Given the description of an element on the screen output the (x, y) to click on. 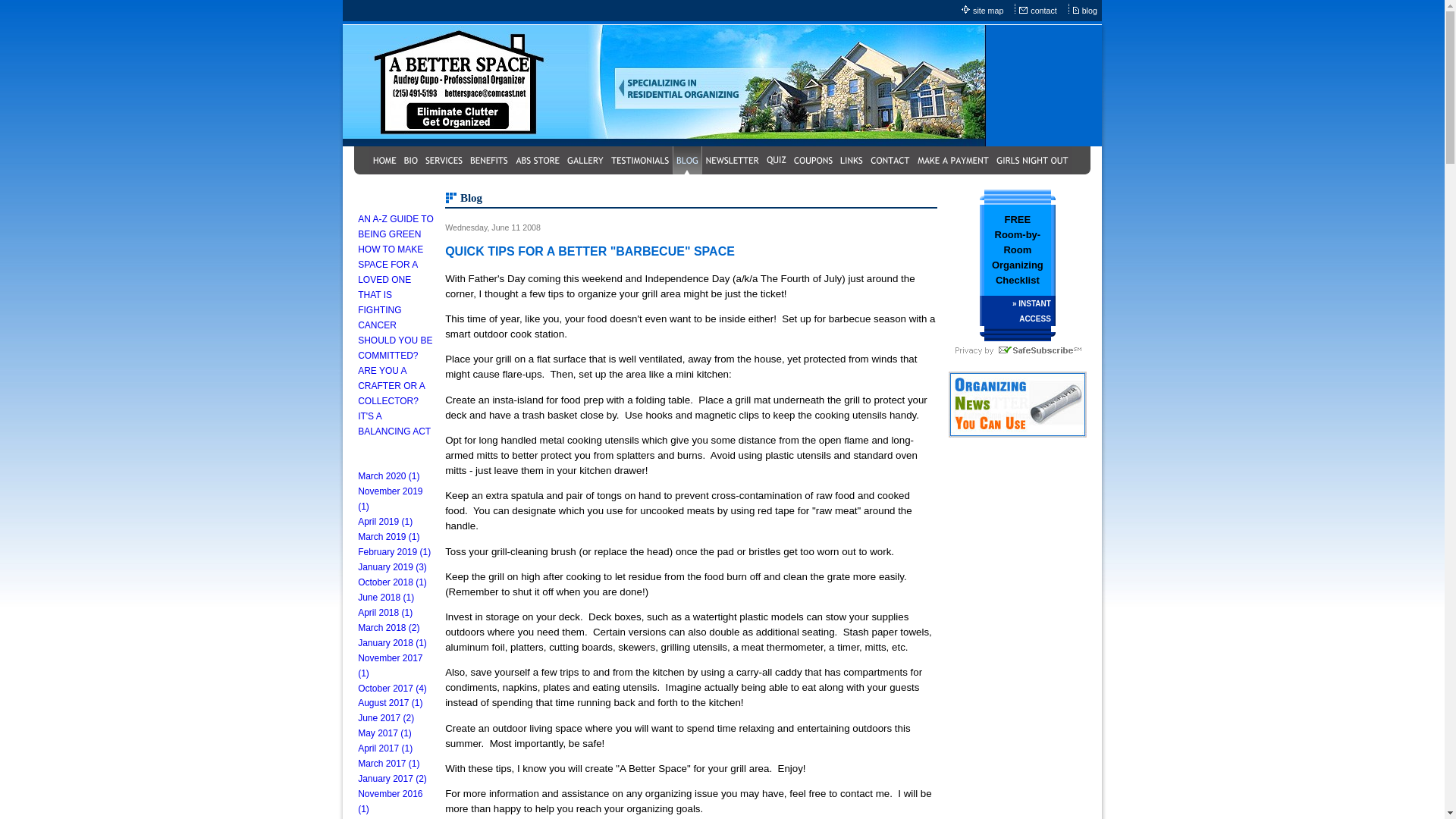
AN A-Z GUIDE TO BEING GREEN (395, 226)
IT'S A BALANCING ACT (394, 423)
contact (1044, 10)
blog (1090, 10)
ARE YOU A CRAFTER OR A COLLECTOR? (391, 385)
SHOULD YOU BE COMMITTED? (395, 347)
site map (988, 10)
